Given the description of an element on the screen output the (x, y) to click on. 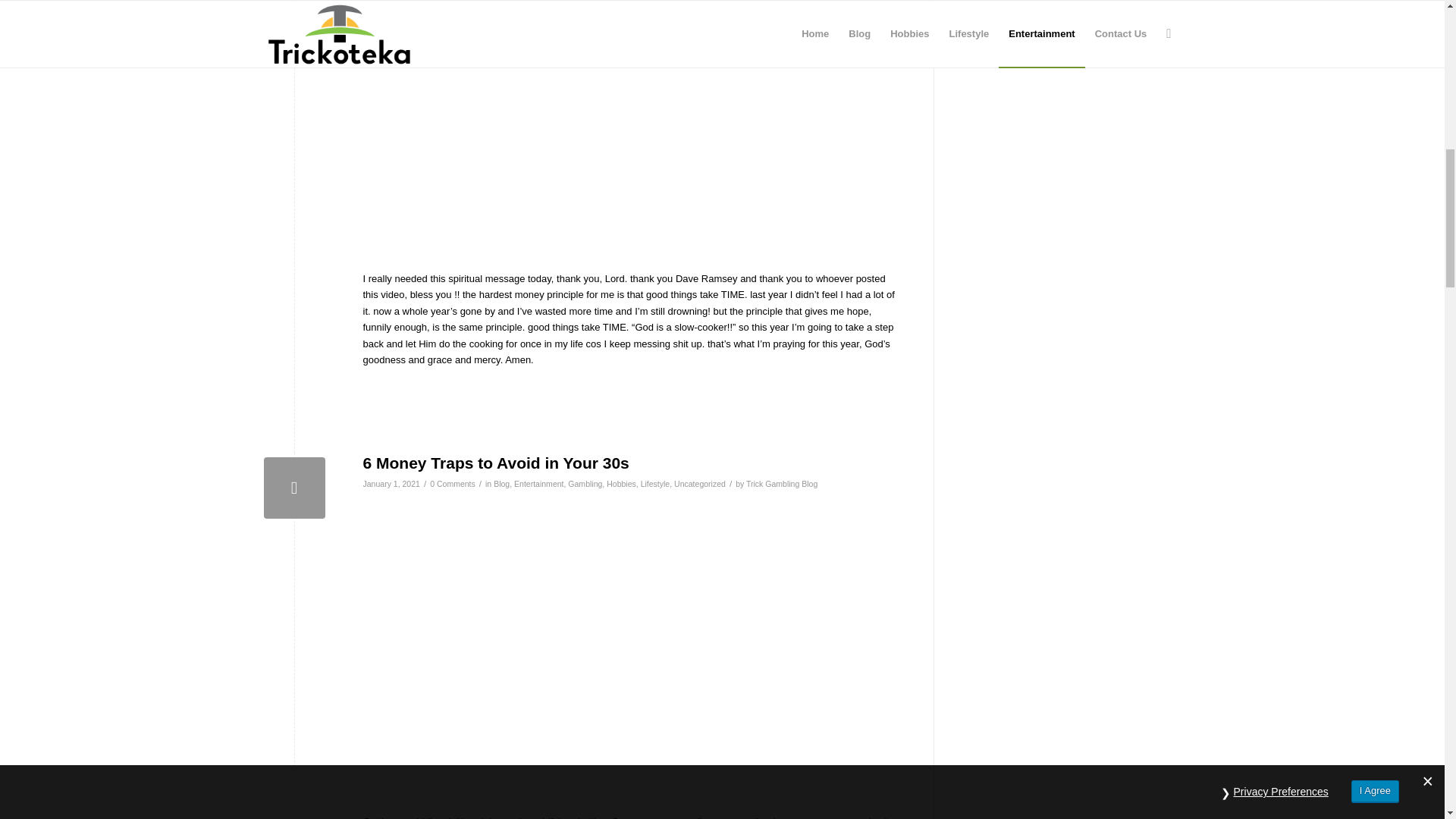
6 Money Traps to Avoid in Your 30s (293, 487)
Blog (501, 483)
Hobbies (621, 483)
Posts by Trick Gambling Blog (780, 483)
Entertainment (538, 483)
Gambling (584, 483)
Lifestyle (654, 483)
6 Money Traps to Avoid in Your 30s (495, 462)
0 Comments (452, 483)
